Given the description of an element on the screen output the (x, y) to click on. 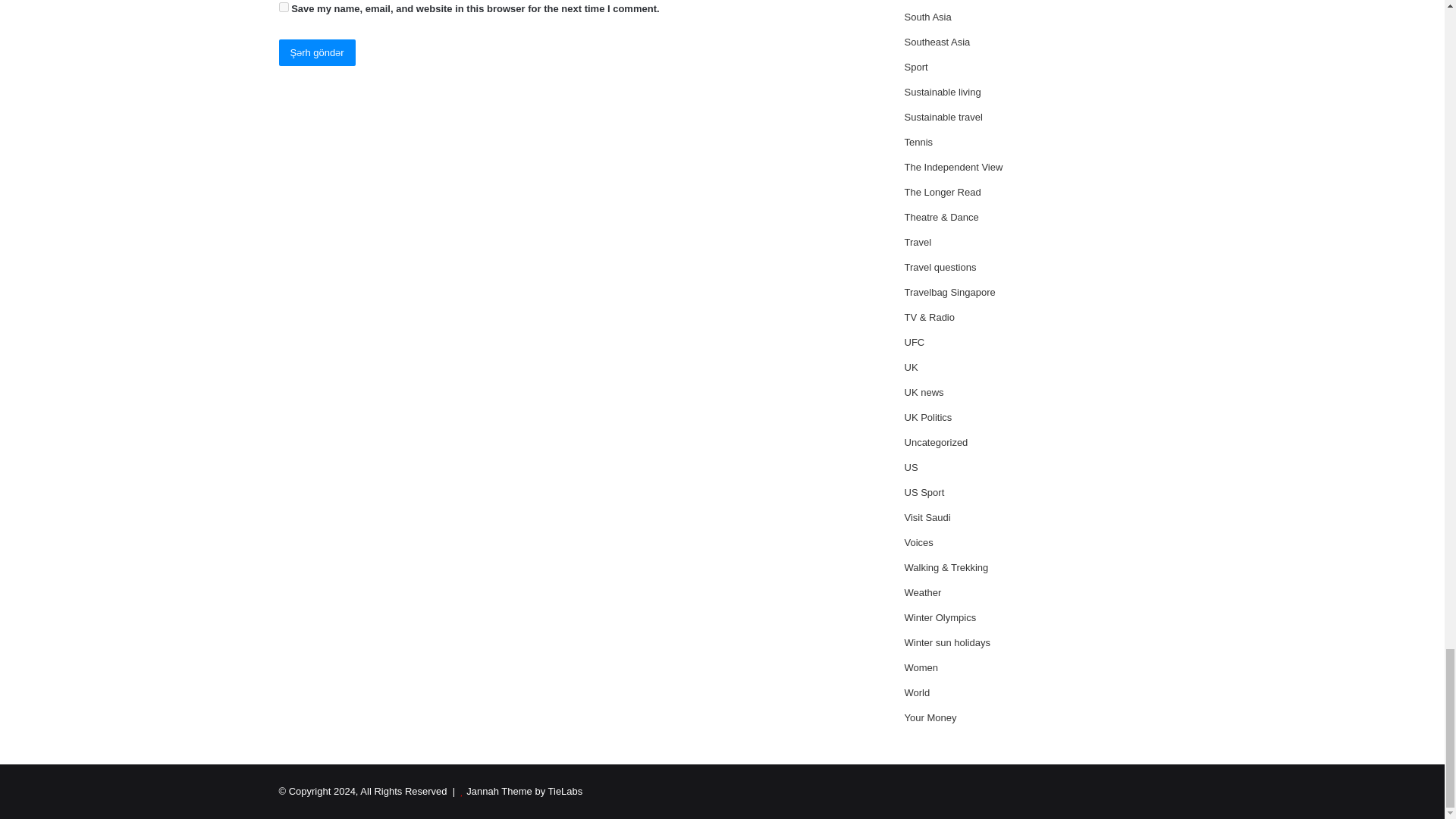
yes (283, 7)
